Given the description of an element on the screen output the (x, y) to click on. 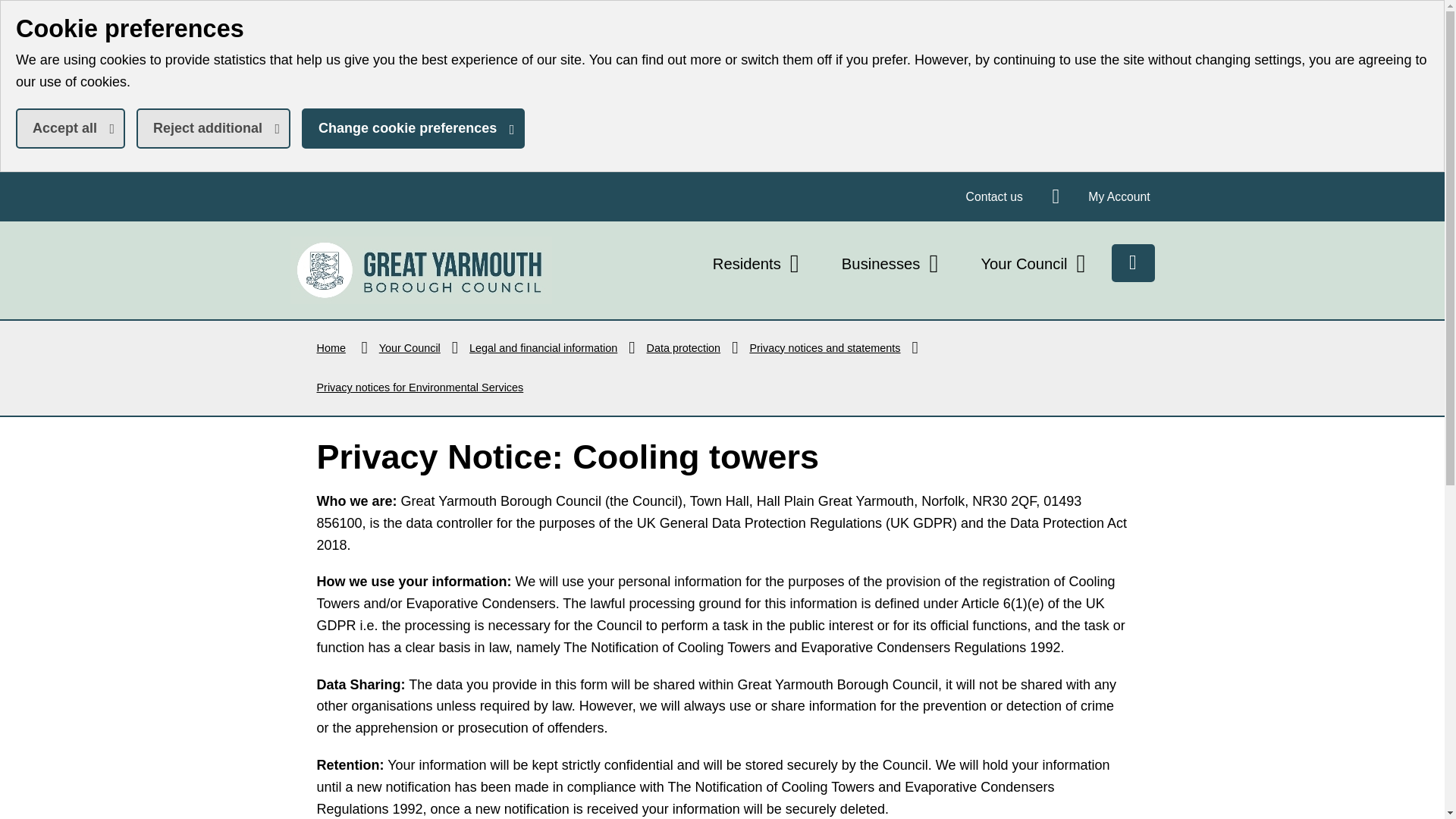
Skip to main content (11, 11)
Contact us (994, 196)
Change cookie preferences (412, 128)
My Account (1119, 196)
Accept all (70, 128)
Residents (757, 263)
Reject additional (420, 270)
